Given the description of an element on the screen output the (x, y) to click on. 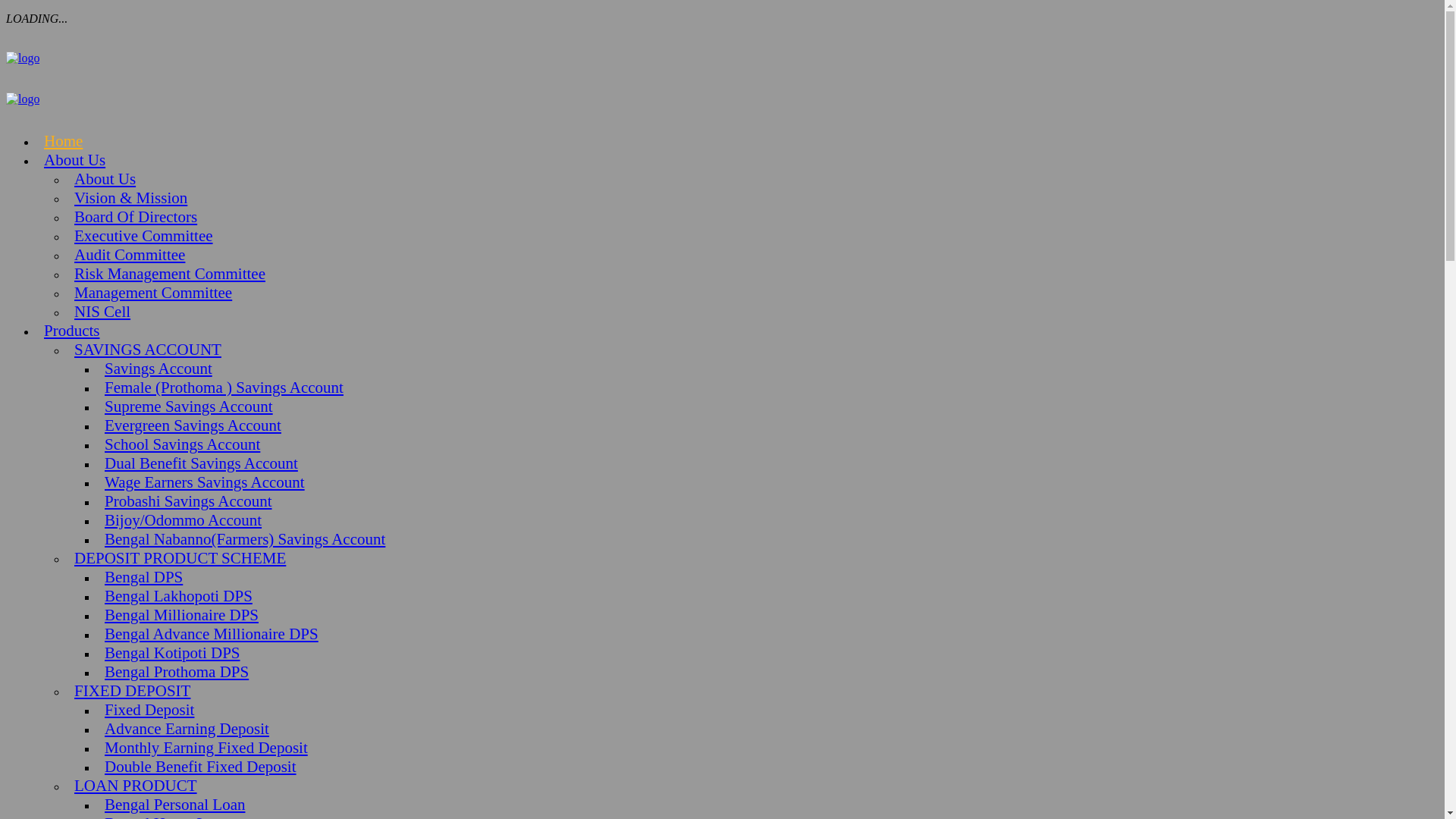
Bengal Millionaire DPS Element type: text (177, 614)
Evergreen Savings Account Element type: text (189, 425)
Bengal Kotipoti DPS Element type: text (168, 652)
Bengal Advance Millionaire DPS Element type: text (207, 633)
NIS Cell Element type: text (98, 311)
Home Element type: text (59, 140)
Vision & Mission Element type: text (126, 197)
Bengal Nabanno(Farmers) Savings Account Element type: text (241, 539)
SAVINGS ACCOUNT Element type: text (143, 349)
DEPOSIT PRODUCT SCHEME Element type: text (175, 558)
Female (Prothoma ) Savings Account Element type: text (220, 387)
Bengal Prothoma DPS Element type: text (172, 671)
Fixed Deposit Element type: text (145, 709)
Board Of Directors Element type: text (131, 216)
Risk Management Committee Element type: text (165, 273)
Monthly Earning Fixed Deposit Element type: text (202, 747)
Probashi Savings Account Element type: text (184, 501)
Supreme Savings Account Element type: text (185, 406)
Wage Earners Savings Account Element type: text (200, 482)
Bijoy/Odommo Account Element type: text (179, 520)
About Us Element type: text (70, 159)
Bengal DPS Element type: text (139, 576)
LOAN PRODUCT Element type: text (131, 785)
Management Committee Element type: text (149, 292)
Audit Committee Element type: text (125, 254)
Executive Committee Element type: text (139, 235)
Products Element type: text (68, 330)
Bengal Lakhopoti DPS Element type: text (174, 595)
Dual Benefit Savings Account Element type: text (197, 463)
About Us Element type: text (100, 178)
School Savings Account Element type: text (178, 444)
Bengal Personal Loan Element type: text (170, 804)
Double Benefit Fixed Deposit Element type: text (196, 766)
Savings Account Element type: text (154, 368)
Advance Earning Deposit Element type: text (183, 728)
FIXED DEPOSIT Element type: text (128, 690)
